Given the description of an element on the screen output the (x, y) to click on. 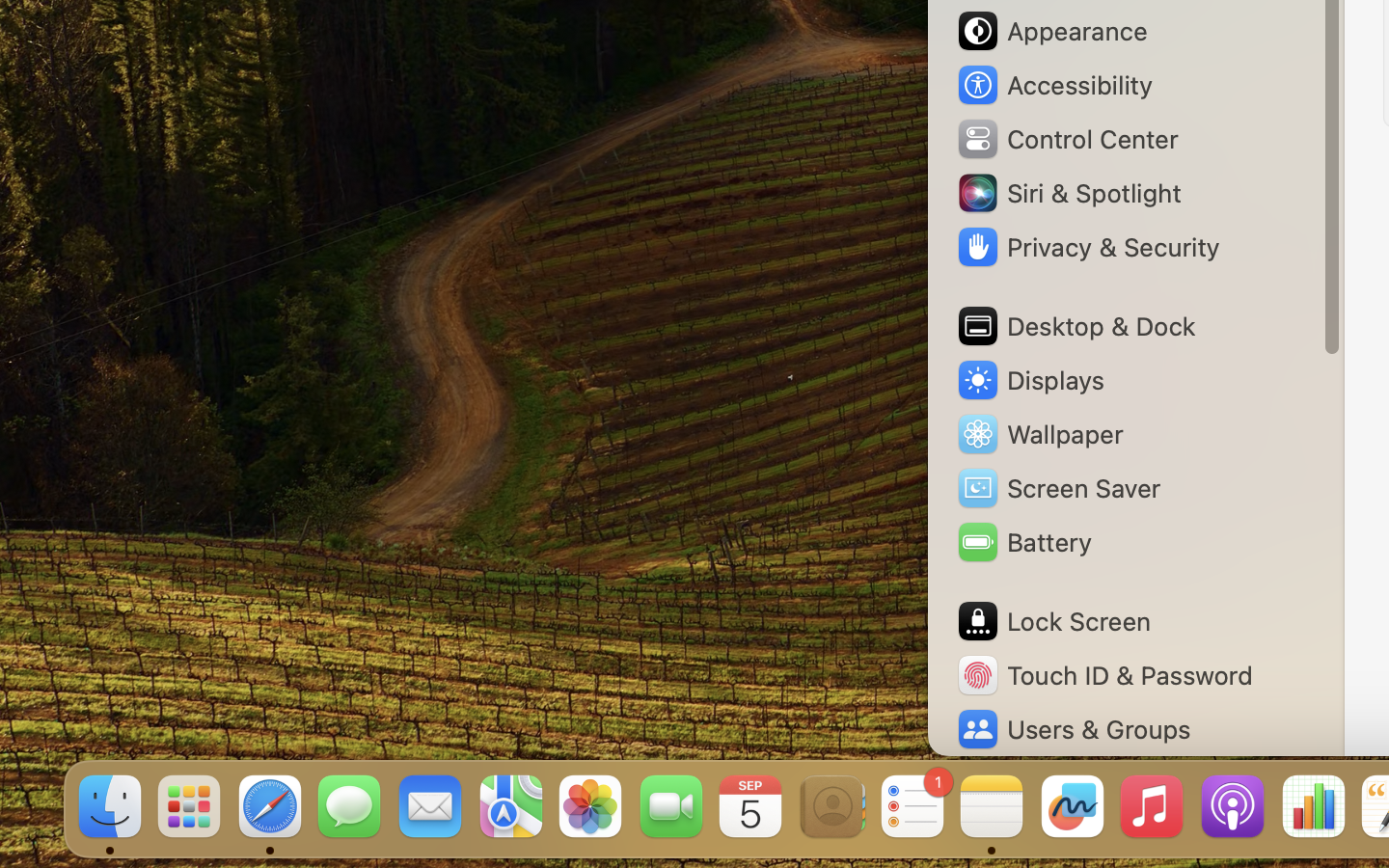
Users & Groups Element type: AXStaticText (1072, 728)
Control Center Element type: AXStaticText (1066, 138)
Accessibility Element type: AXStaticText (1053, 84)
